Given the description of an element on the screen output the (x, y) to click on. 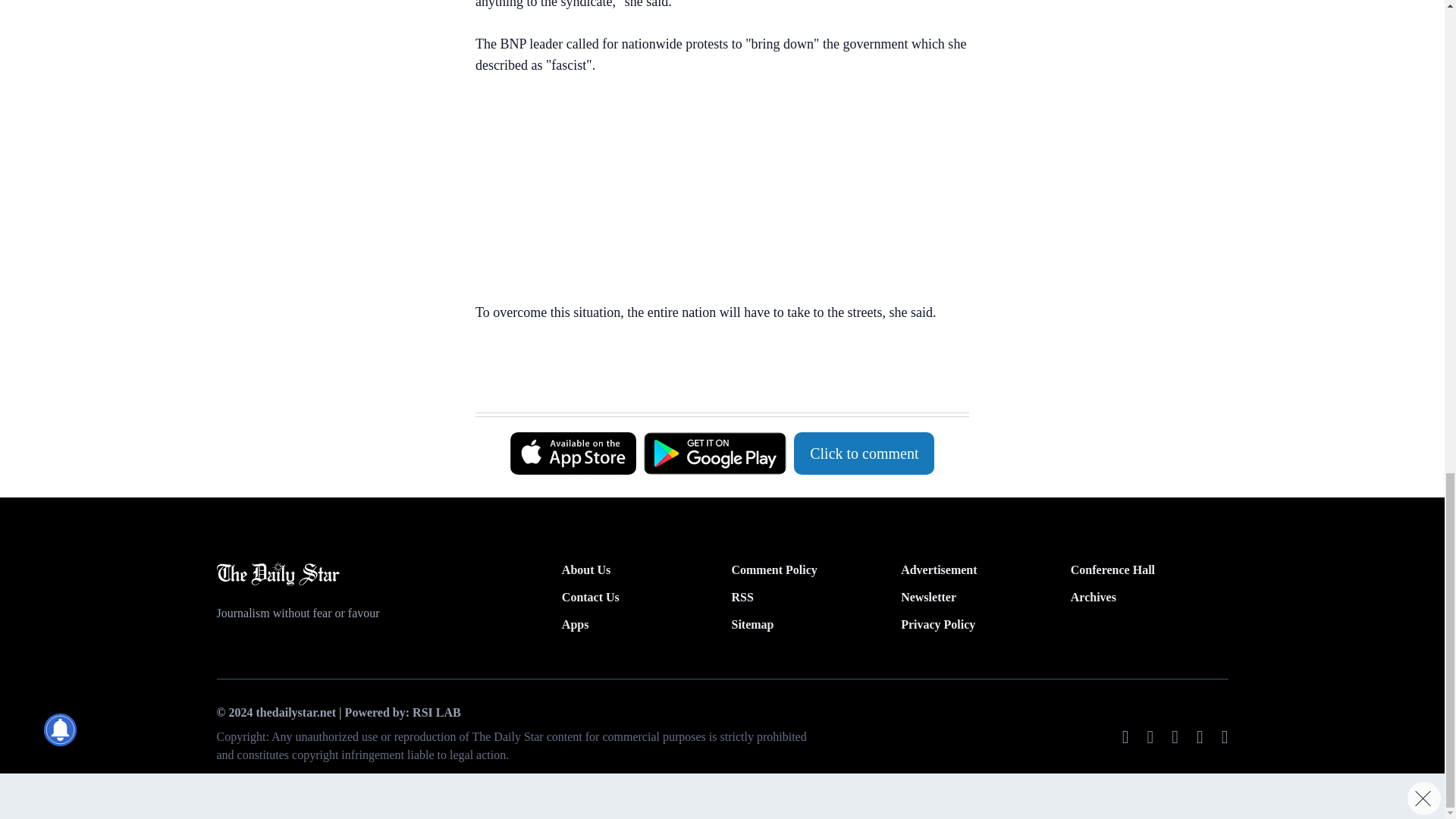
3rd party ad content (714, 374)
3rd party ad content (713, 191)
